Given the description of an element on the screen output the (x, y) to click on. 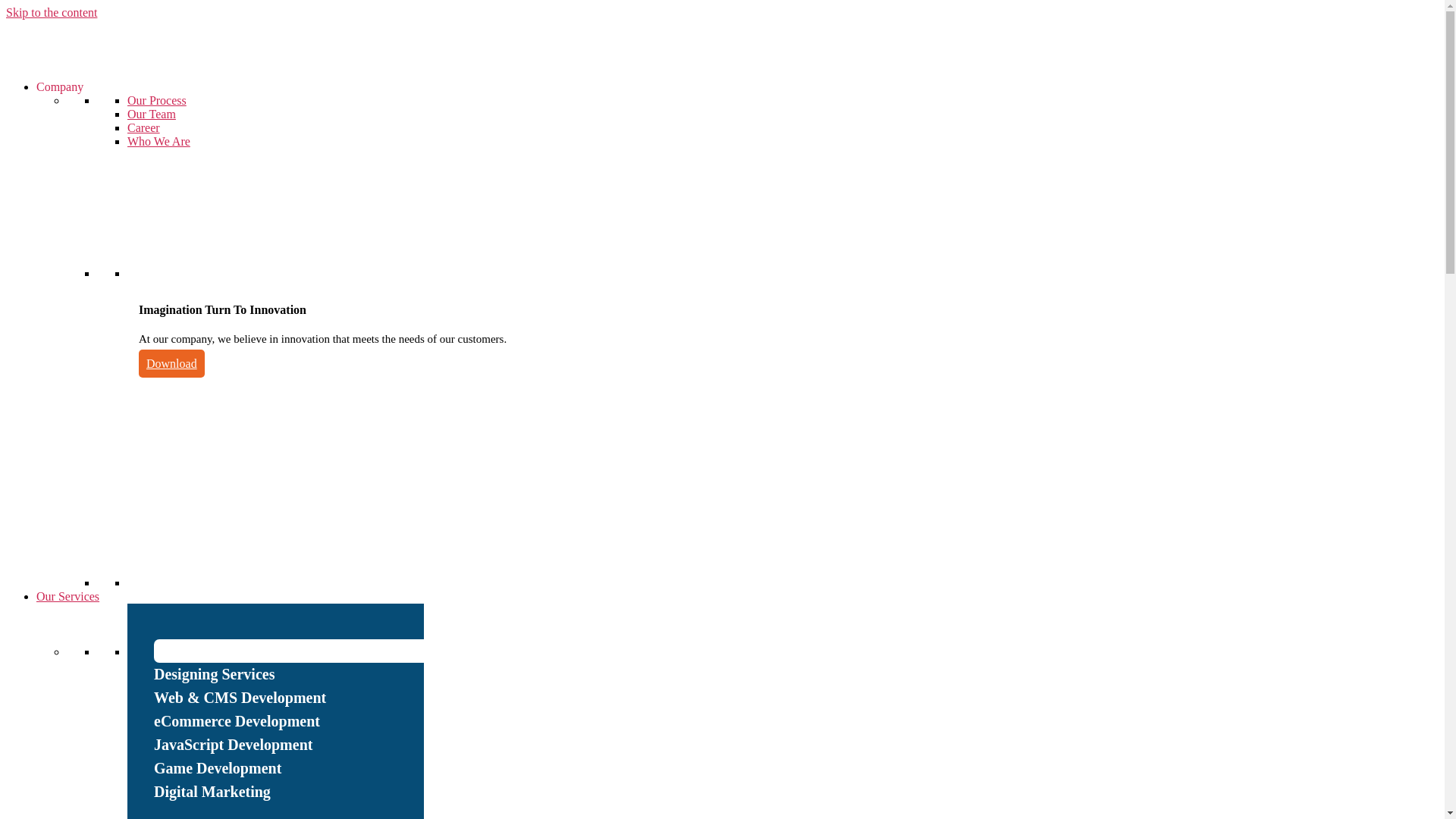
eCommerce Development Element type: text (288, 721)
Mobile App Development Element type: text (288, 650)
JavaScript Development Element type: text (288, 744)
Game Development Element type: text (288, 768)
Skip to the content Element type: text (51, 12)
Our Process Element type: text (156, 100)
Career Element type: text (143, 127)
Company Element type: text (59, 86)
Download Element type: text (171, 363)
Web & CMS Development Element type: text (288, 697)
Designing Services Element type: text (288, 674)
Our Services Element type: text (67, 595)
Digital Marketing Element type: text (288, 791)
Our Team Element type: text (151, 113)
Who We Are Element type: text (158, 140)
